Given the description of an element on the screen output the (x, y) to click on. 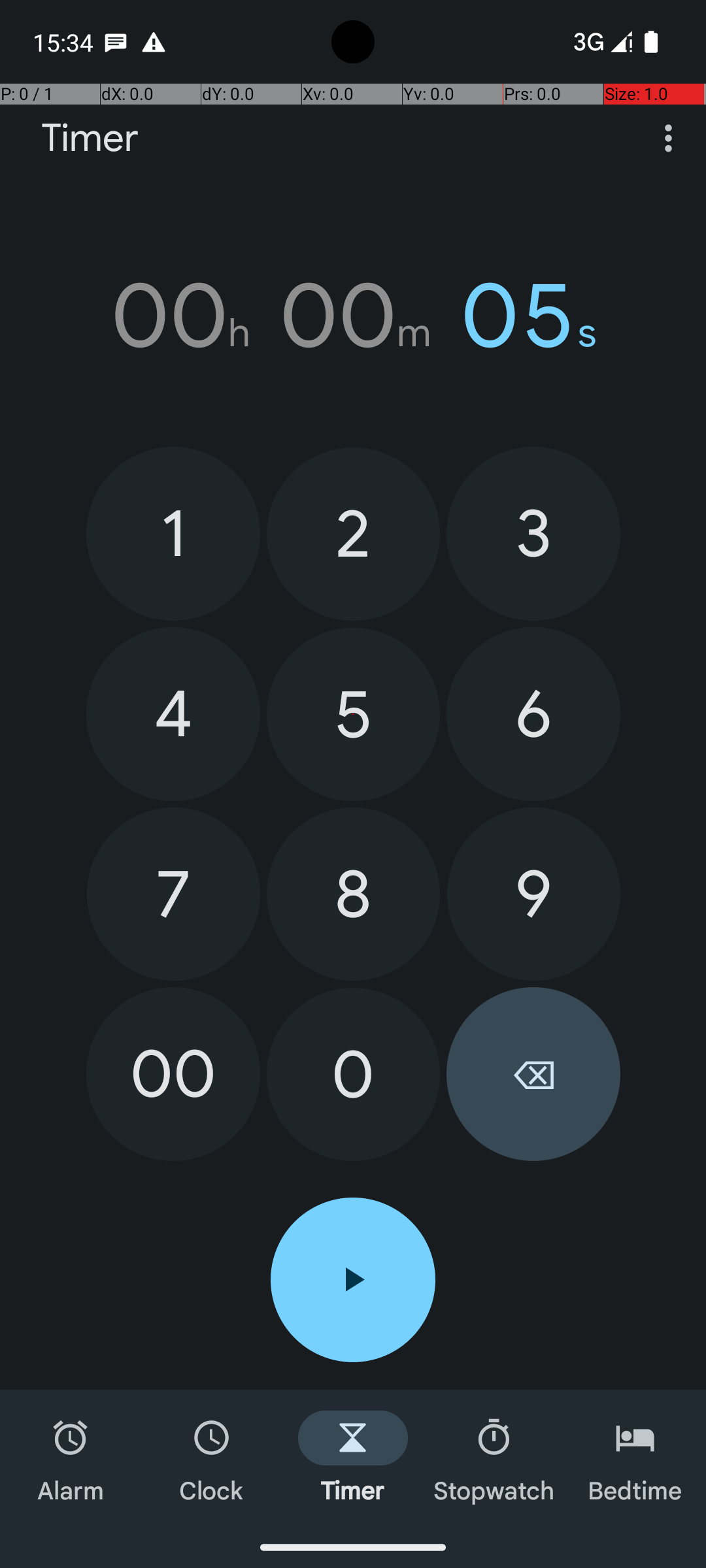
00h 00m 05s Element type: android.widget.TextView (353, 315)
